Given the description of an element on the screen output the (x, y) to click on. 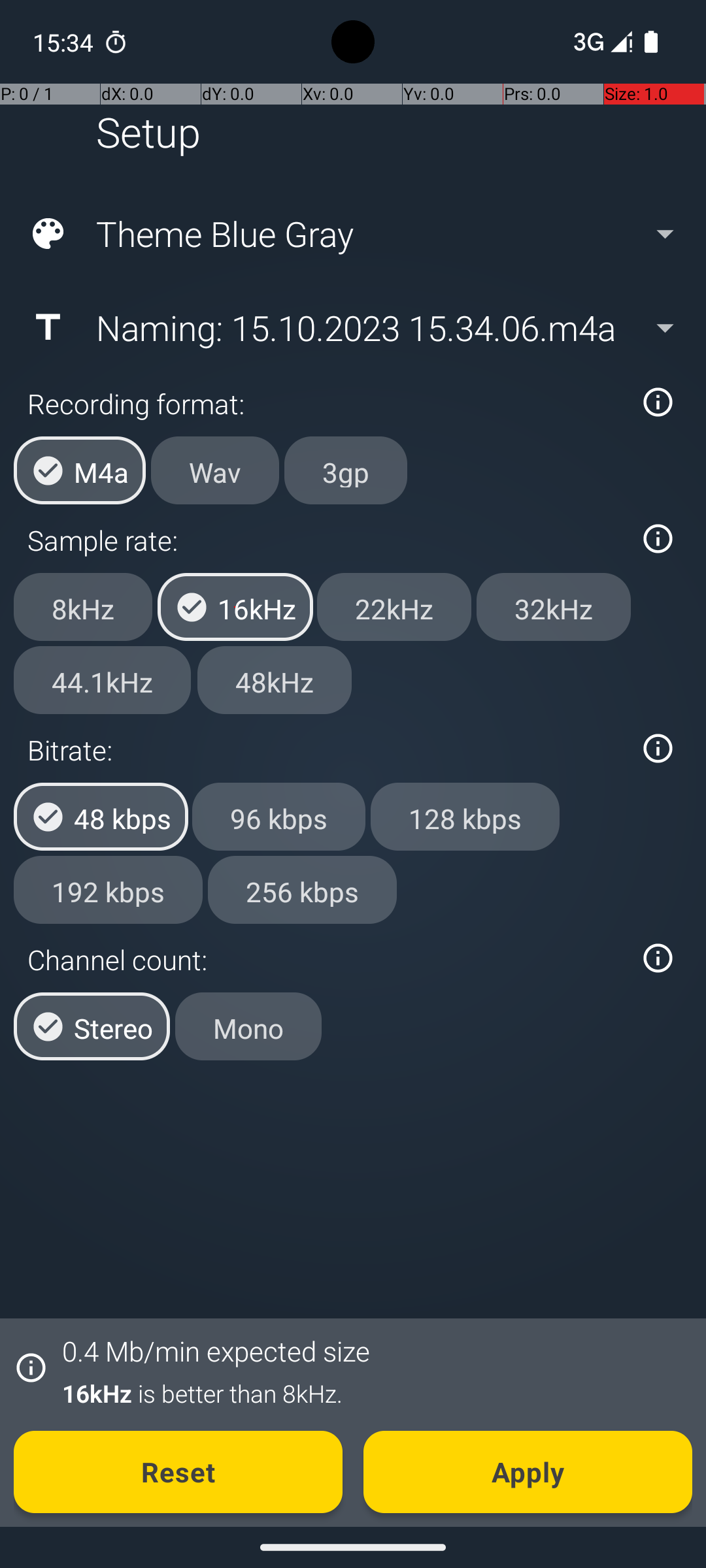
0.4 Mb/min expected size Element type: android.widget.TextView (215, 1350)
16kHz is better than 8kHz. Element type: android.widget.TextView (370, 1392)
Naming: 15.10.2023 15.34.06.m4a Element type: android.widget.TextView (352, 327)
